Given the description of an element on the screen output the (x, y) to click on. 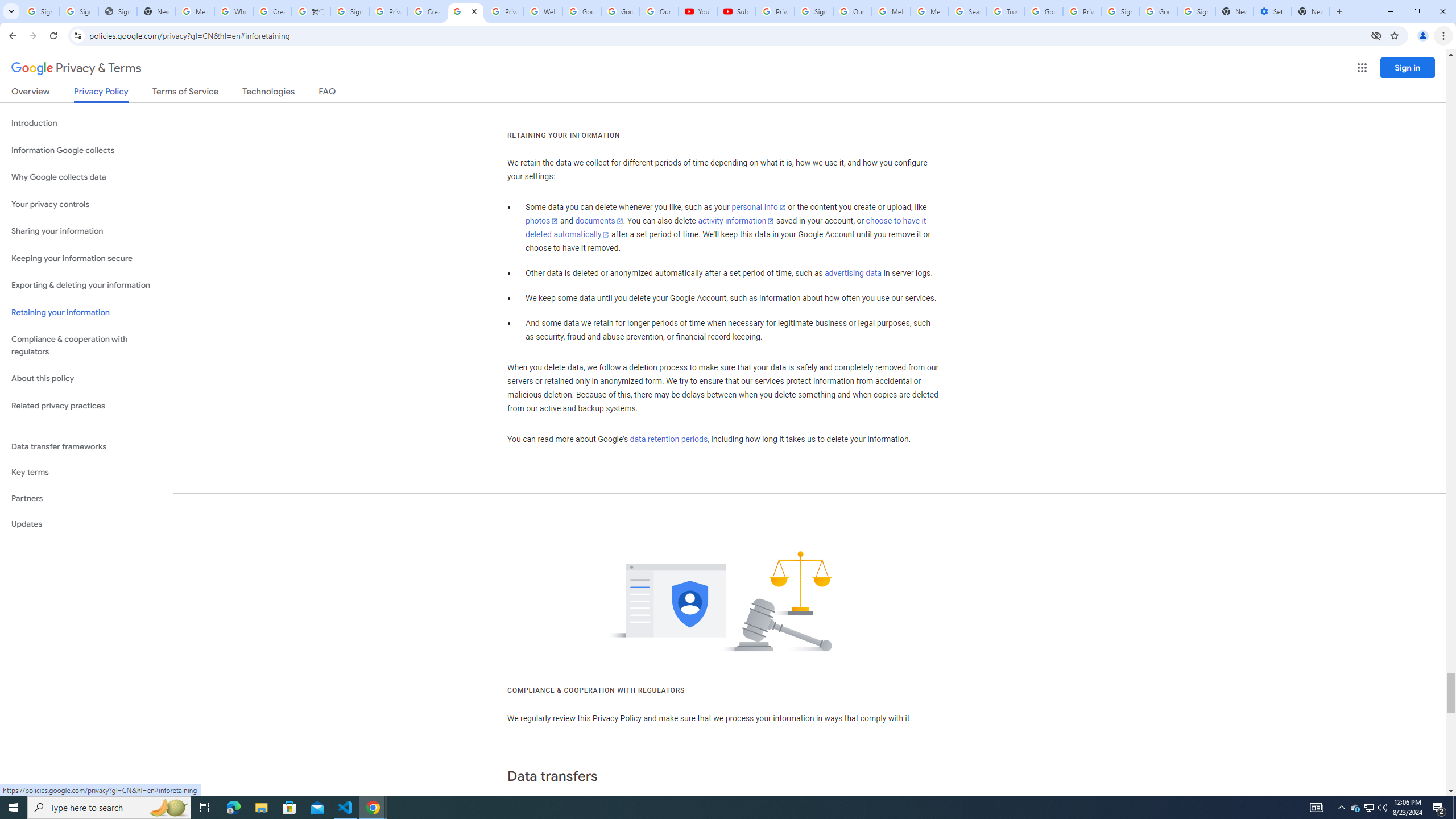
Trusted Information and Content - Google Safety Center (1005, 11)
Who is my administrator? - Google Account Help (233, 11)
